Given the description of an element on the screen output the (x, y) to click on. 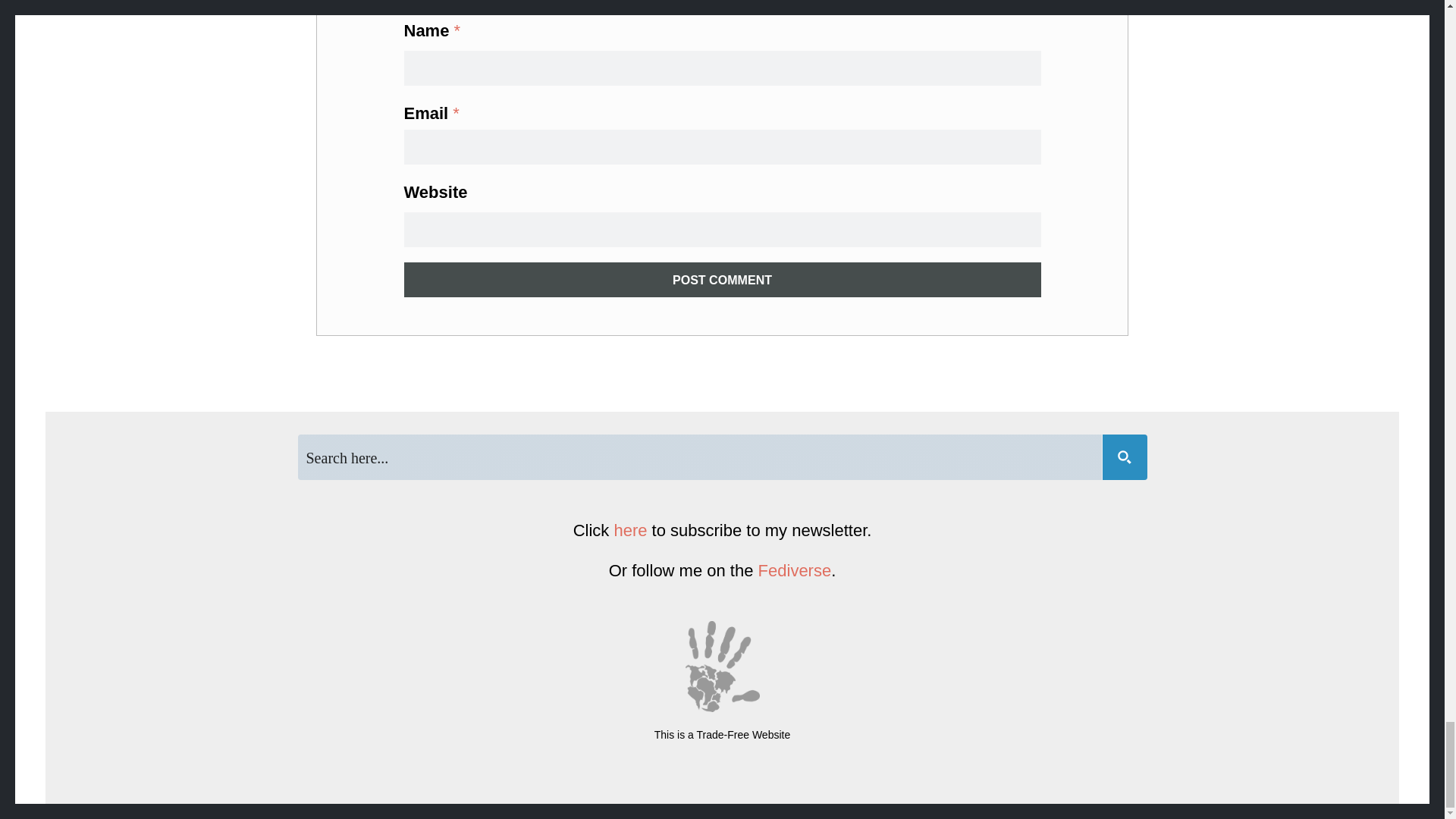
Post Comment (722, 279)
Post Comment (722, 279)
here (629, 529)
This is a Trade-Free Website (721, 734)
Fediverse (794, 570)
